Given the description of an element on the screen output the (x, y) to click on. 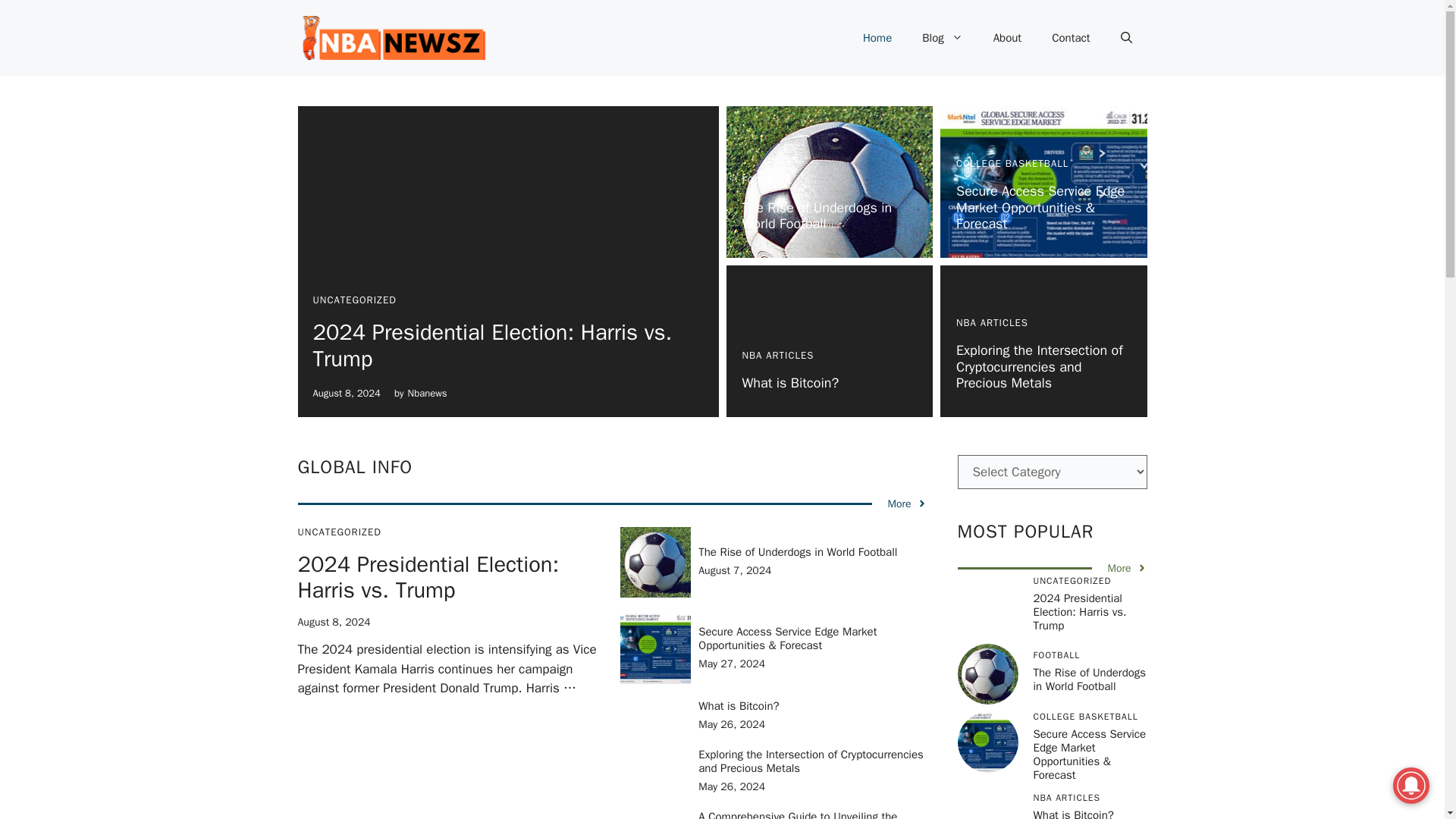
2024 Presidential Election: Harris vs. Trump (492, 345)
What is Bitcoin? (789, 382)
FOOTBALL (766, 179)
Contact (1070, 37)
Home (877, 37)
More (906, 503)
What is Bitcoin? (738, 705)
